Given the description of an element on the screen output the (x, y) to click on. 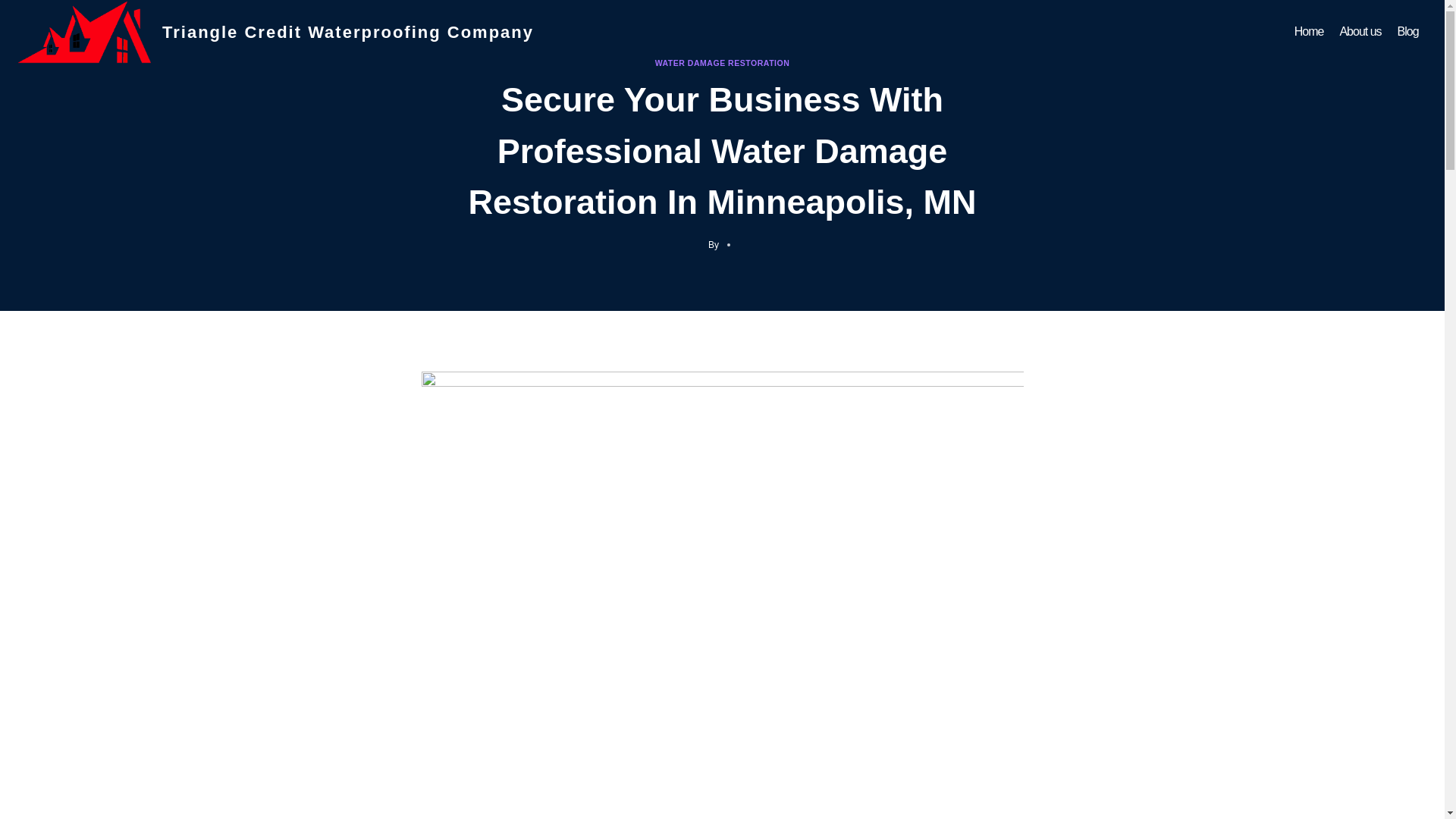
Blog (1407, 32)
Home (1308, 32)
Triangle Credit Waterproofing Company (275, 32)
WATER DAMAGE RESTORATION (722, 62)
About us (1360, 32)
